Given the description of an element on the screen output the (x, y) to click on. 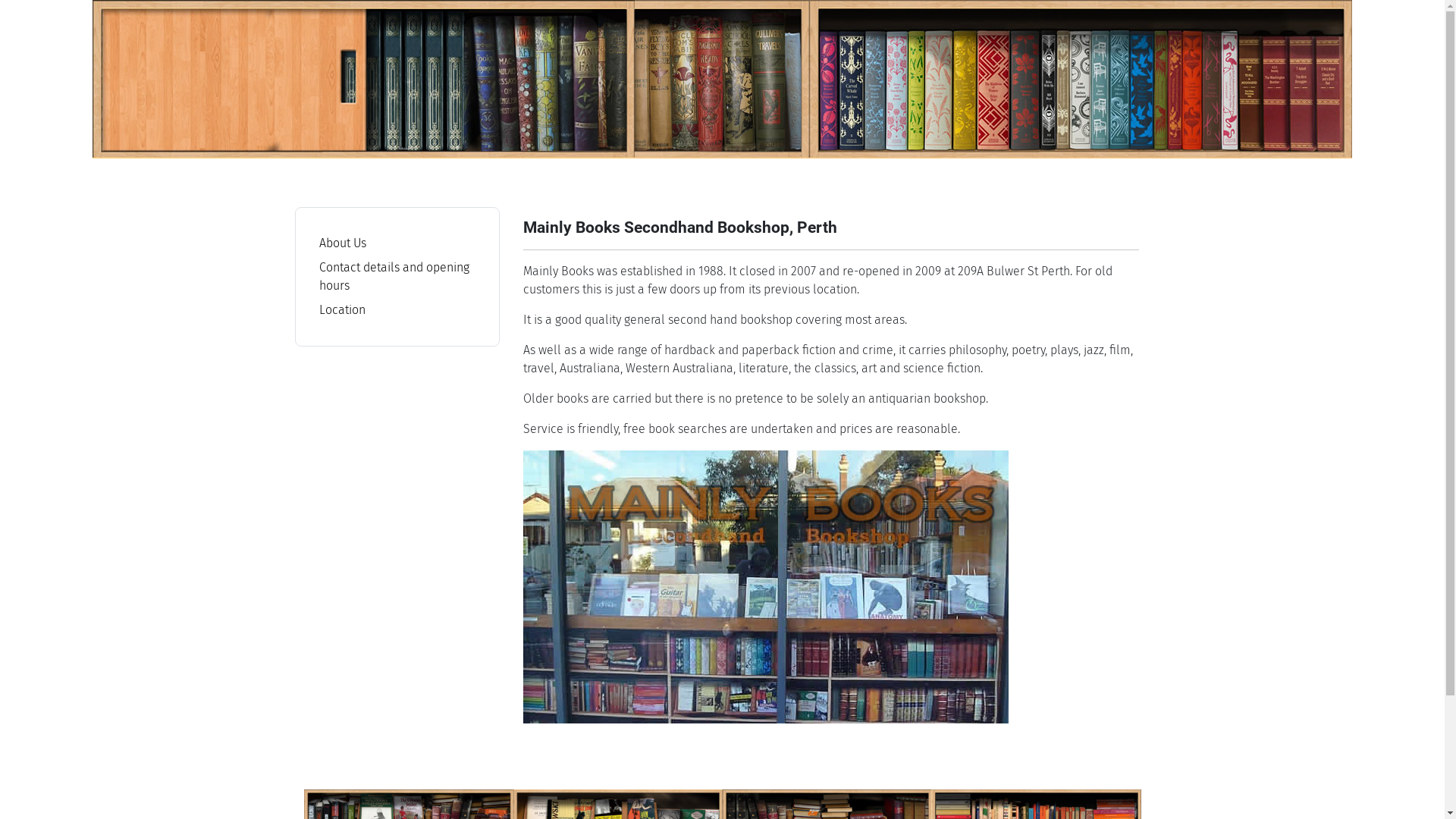
About Us Element type: text (341, 242)
Location Element type: text (341, 309)
Contact details and opening hours Element type: text (393, 276)
